Given the description of an element on the screen output the (x, y) to click on. 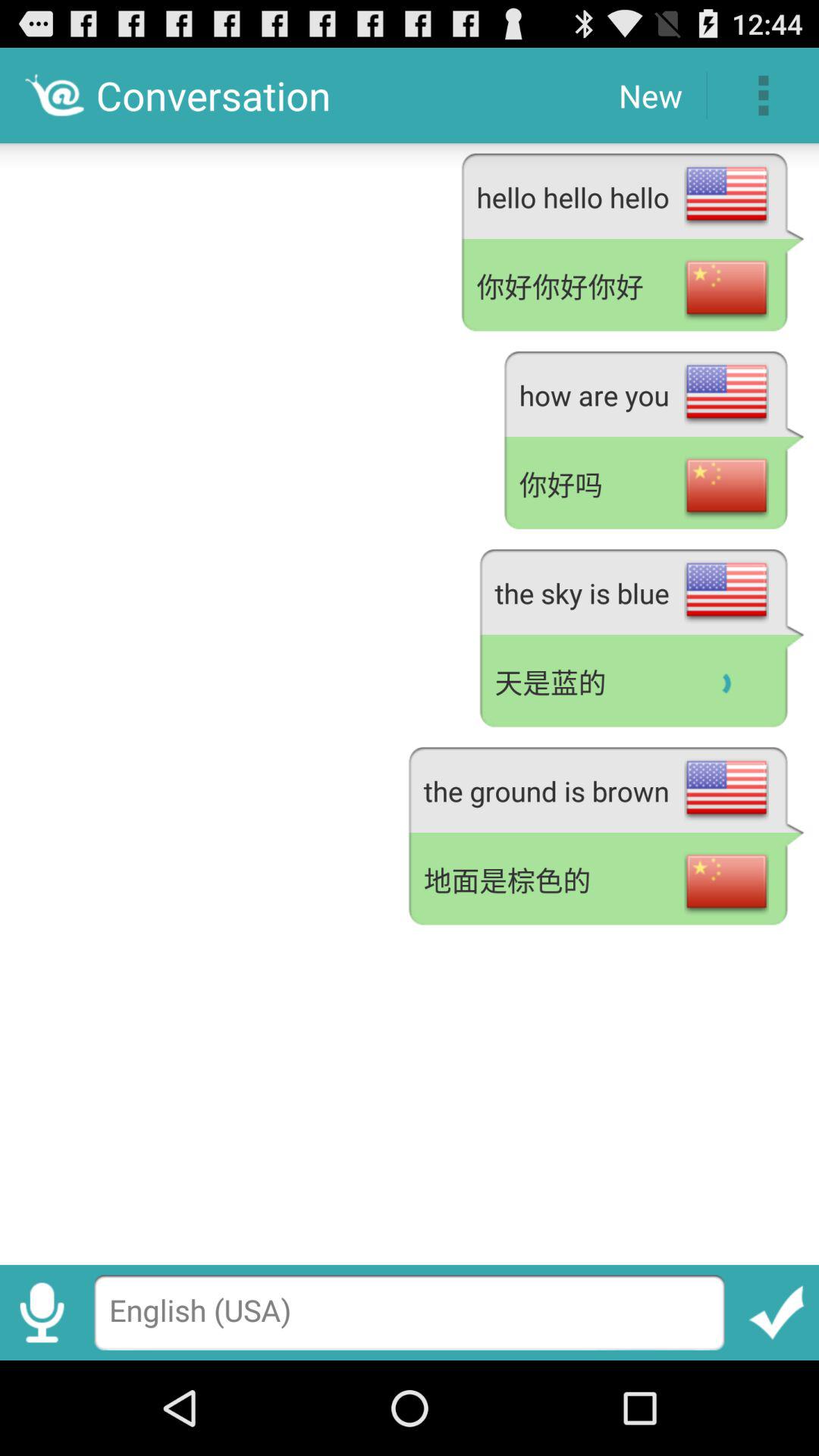
open app below the the ground is app (605, 880)
